Given the description of an element on the screen output the (x, y) to click on. 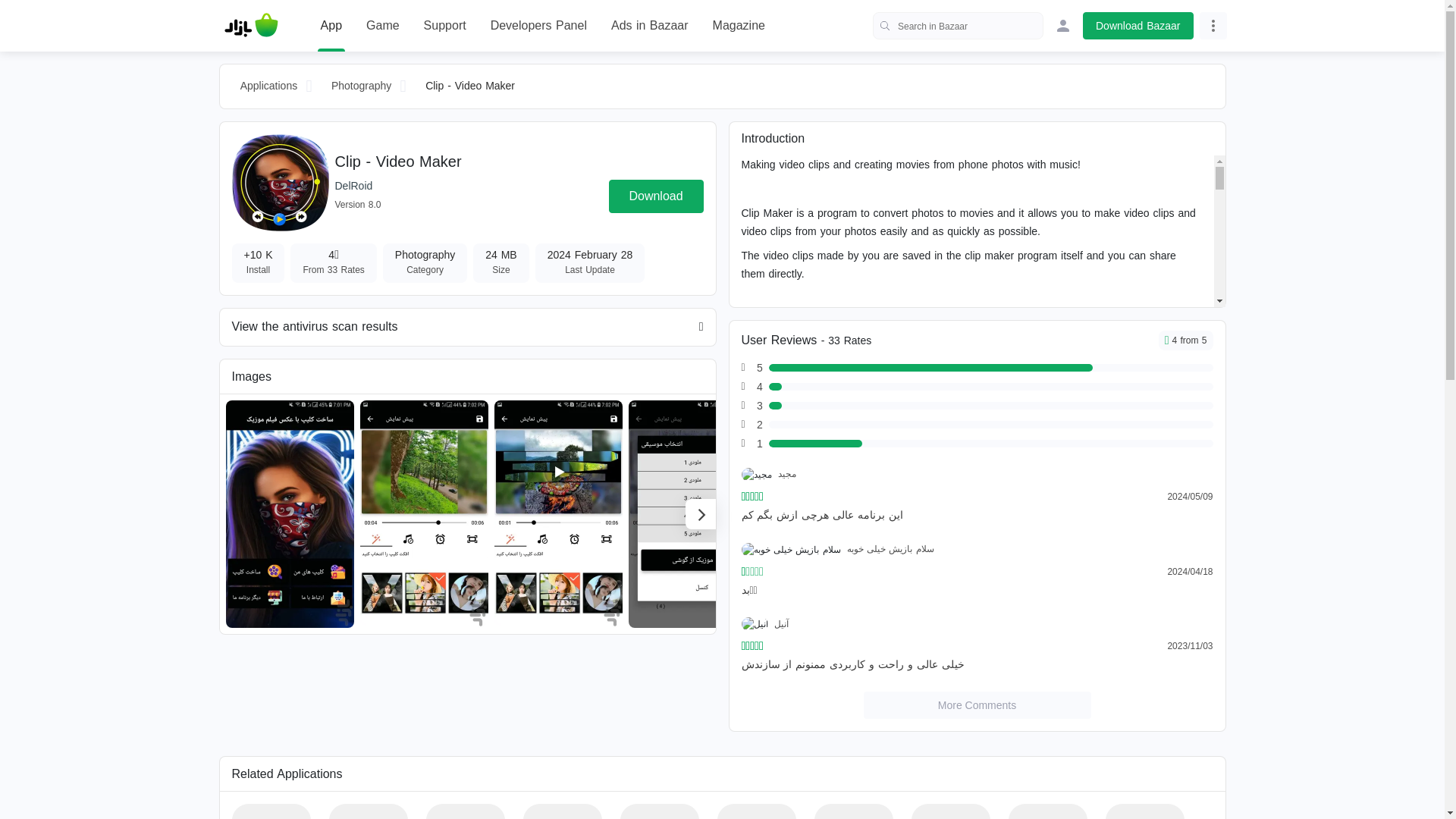
Login to Bazaar (1063, 25)
Ads in Bazaar (649, 25)
Download Bazaar (1138, 25)
Support (444, 25)
Home (250, 25)
Photography (361, 86)
Settings Menu (1213, 25)
Applications (268, 86)
Magazine (739, 25)
Developers Panel (538, 25)
